Given the description of an element on the screen output the (x, y) to click on. 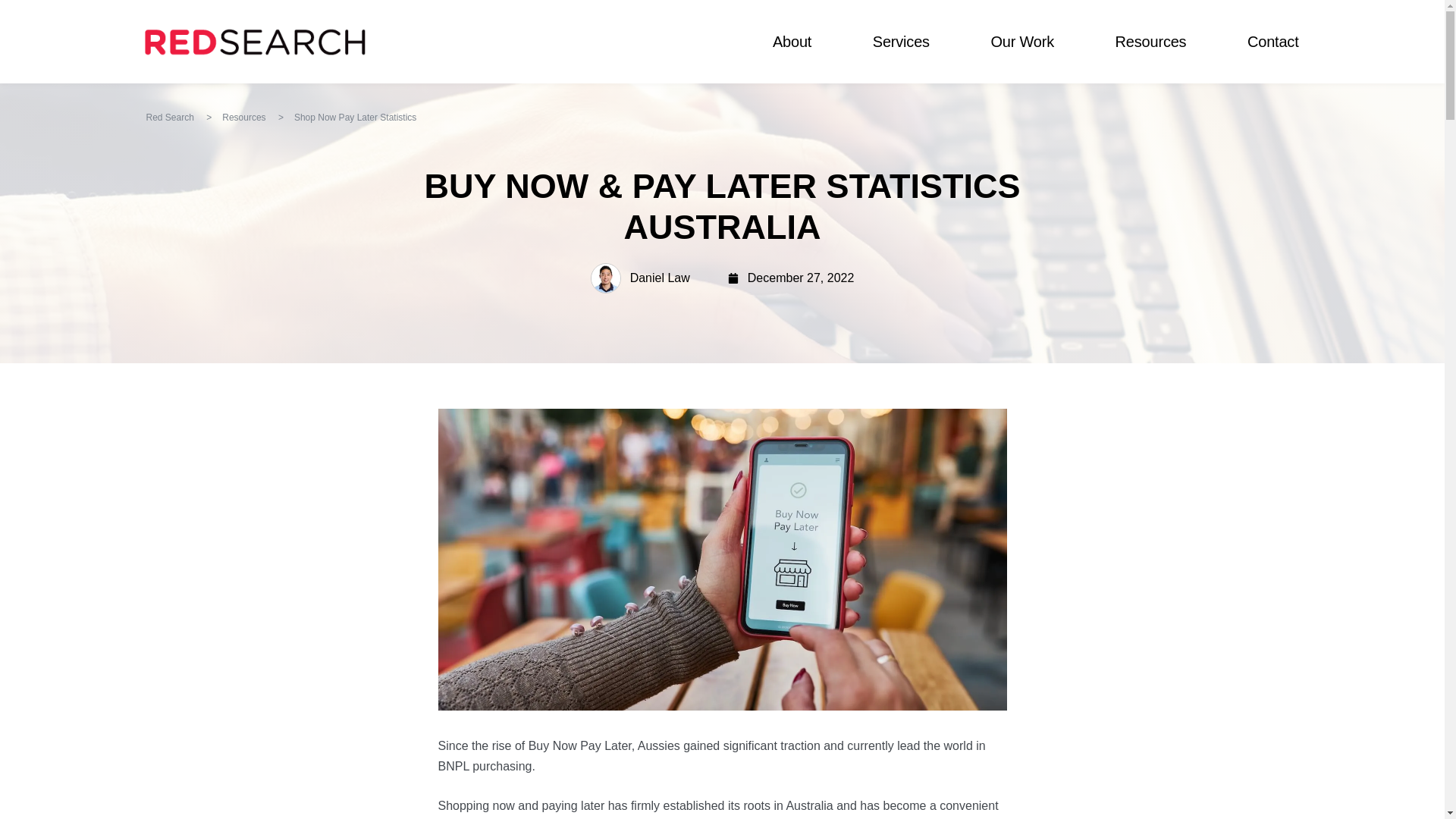
Red Search (169, 117)
About (791, 41)
Our Work (1022, 41)
Contact (1272, 41)
Red Search (169, 117)
Our differences (791, 41)
Services (901, 41)
Resources (1150, 41)
Our Work (1022, 41)
Red Search (254, 41)
